Given the description of an element on the screen output the (x, y) to click on. 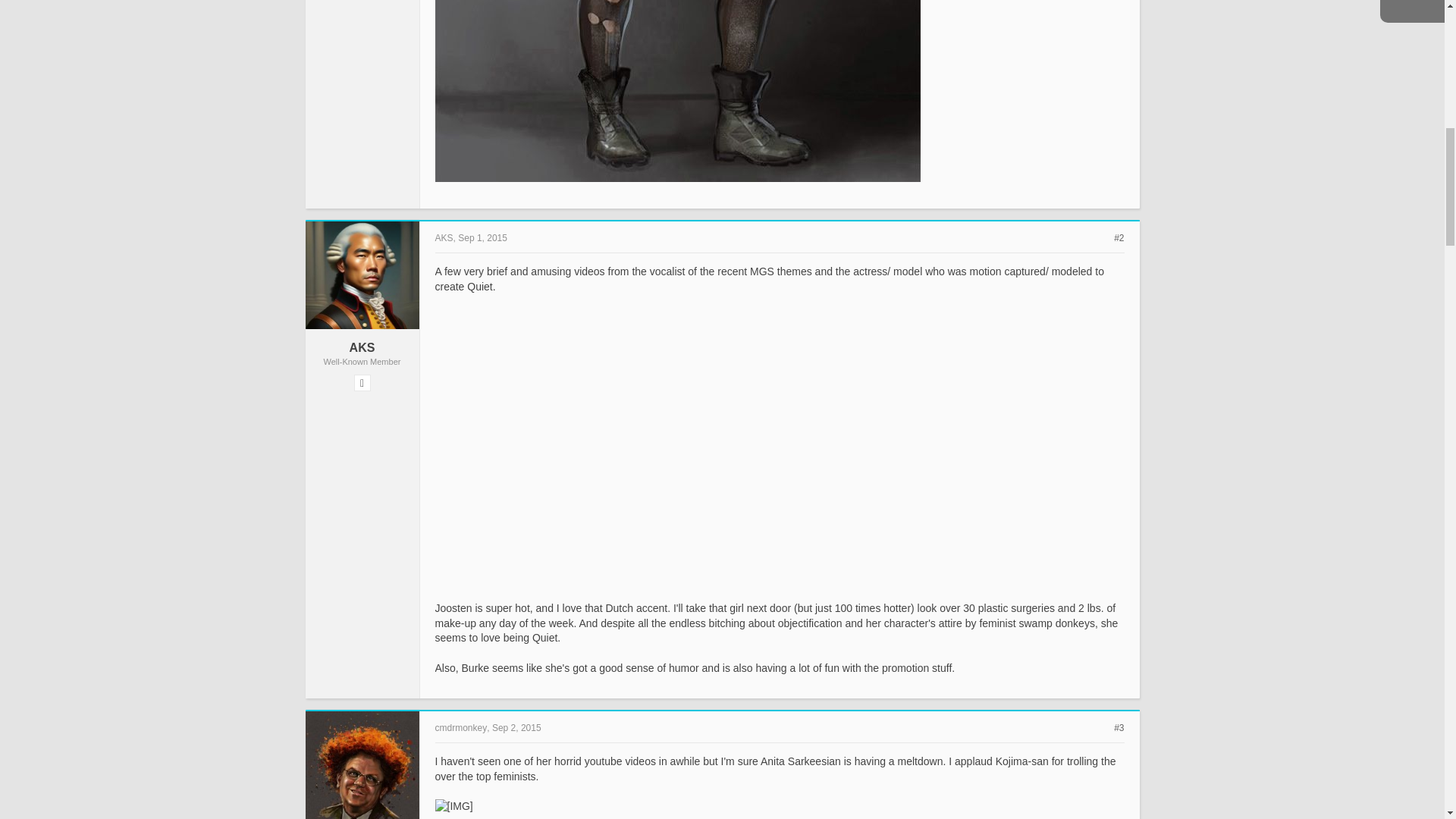
Permalink (516, 727)
Permalink (1118, 237)
Permalink (1118, 727)
Permalink (482, 237)
